Given the description of an element on the screen output the (x, y) to click on. 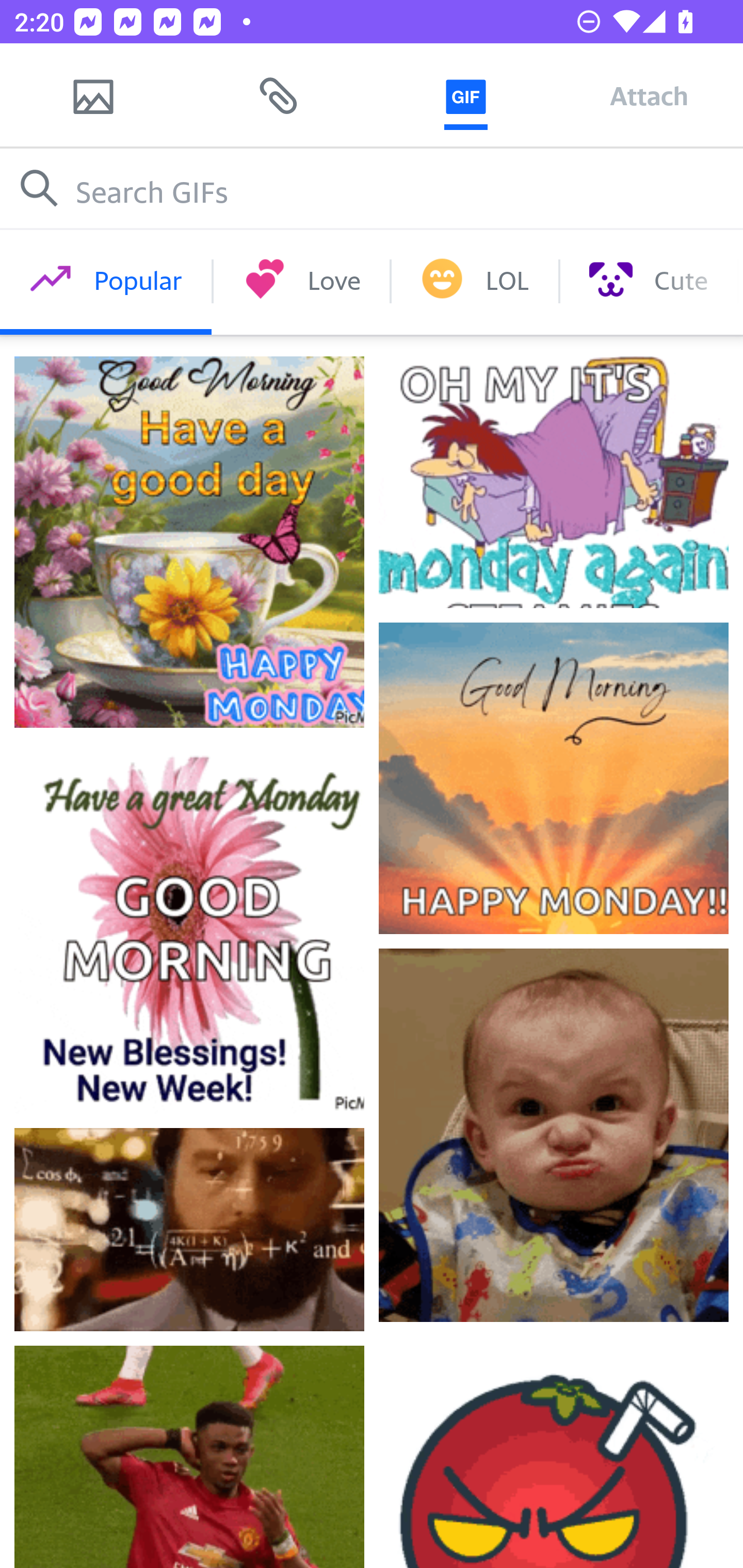
Camera photos (93, 95)
Recent attachments from mail (279, 95)
GIFs (465, 95)
Attach (649, 95)
Search GIFs (371, 187)
Popular (105, 280)
Love (301, 280)
LOL (474, 280)
Cute (648, 280)
